Given the description of an element on the screen output the (x, y) to click on. 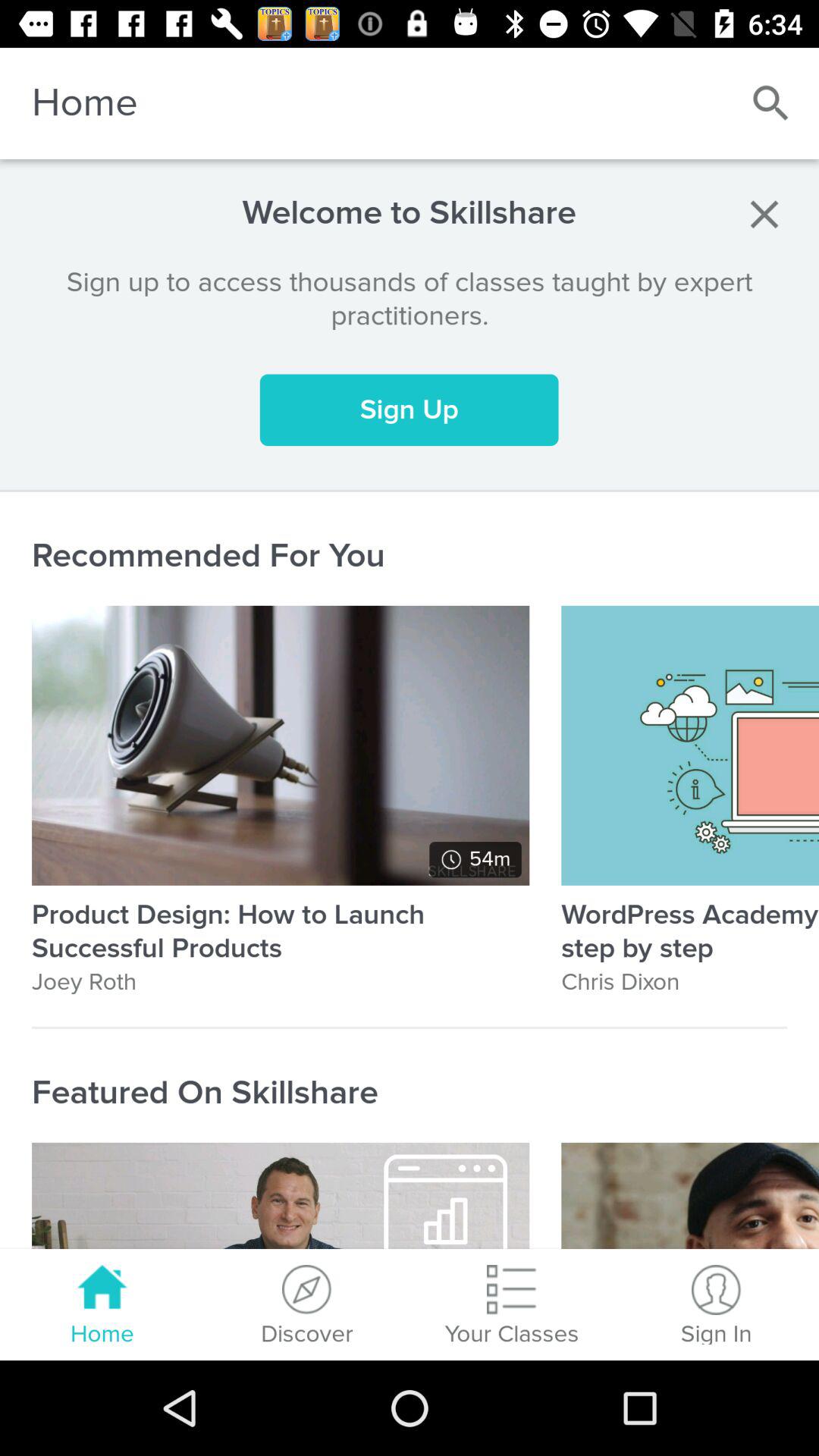
select item to the right of the welcome to skillshare item (764, 214)
